Given the description of an element on the screen output the (x, y) to click on. 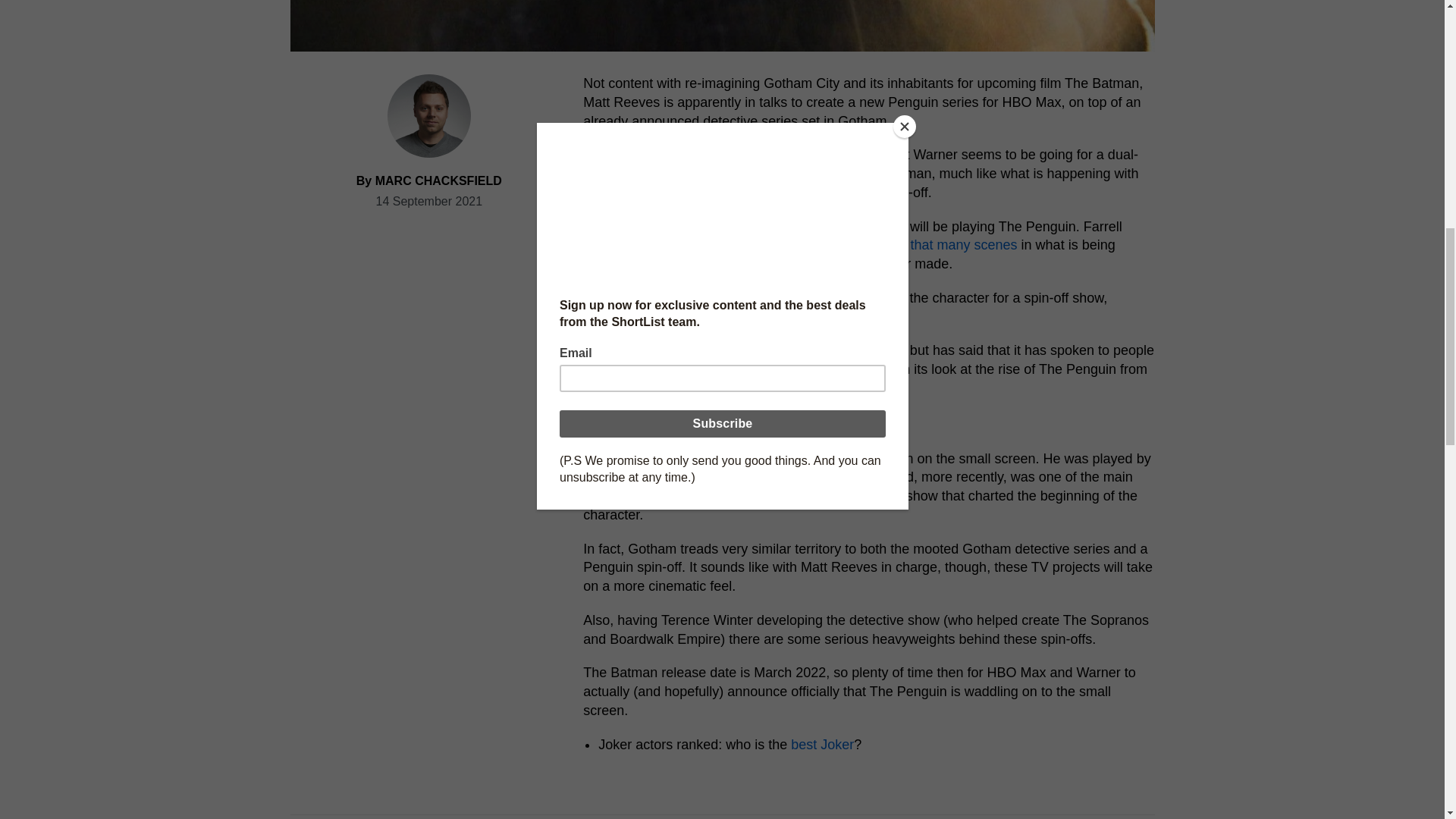
best Joker (821, 744)
to Deadline (723, 154)
he hasn't actually got that many scenes (897, 244)
as "the most emotional" (717, 263)
By MARC CHACKSFIELD (429, 180)
